Given the description of an element on the screen output the (x, y) to click on. 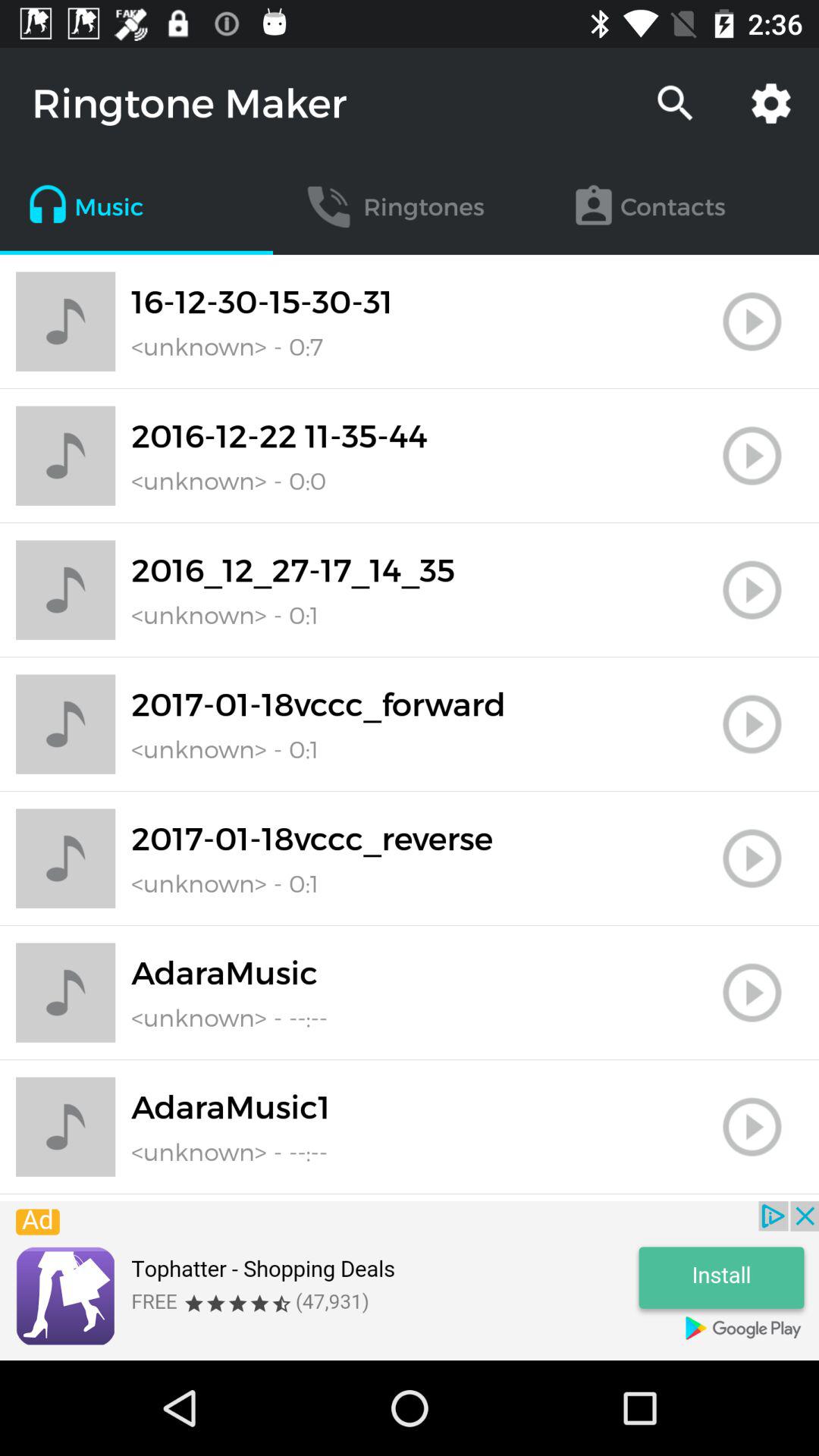
music start button (752, 455)
